Given the description of an element on the screen output the (x, y) to click on. 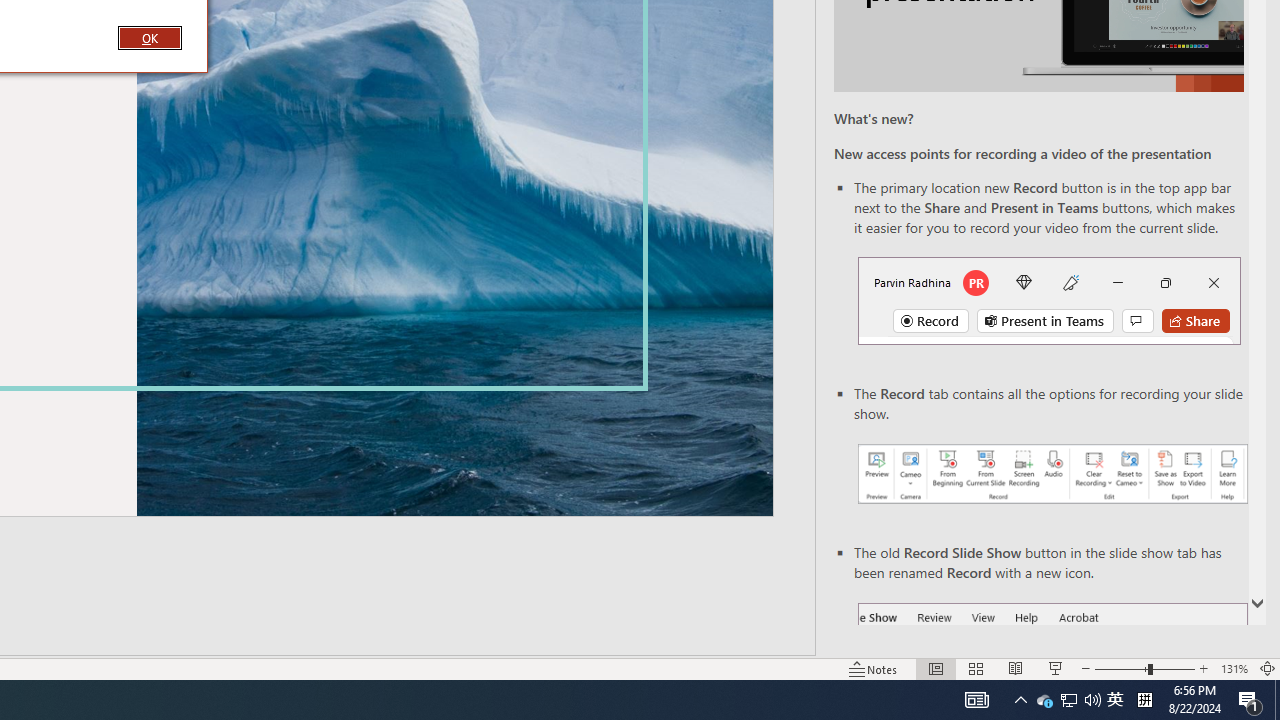
Show desktop (1277, 699)
Slide Sorter (975, 668)
Zoom 131% (1234, 668)
OK (149, 37)
Action Center, 1 new notification (1250, 699)
Normal (936, 668)
Record your presentations screenshot one (1052, 473)
User Promoted Notification Area (1069, 699)
Notes  (1115, 699)
Notification Chevron (1044, 699)
